Given the description of an element on the screen output the (x, y) to click on. 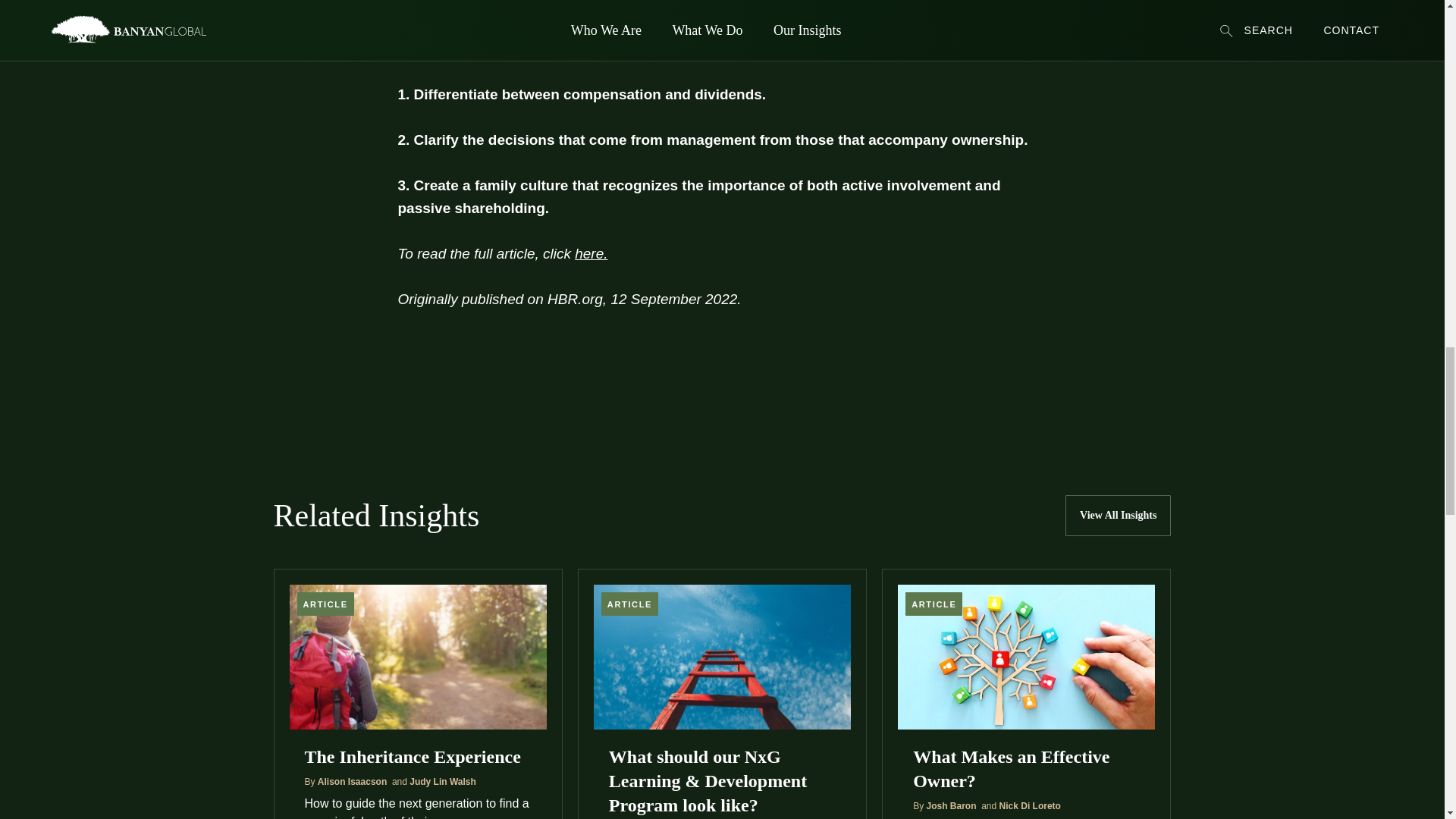
here. (591, 253)
View All Insights (1117, 515)
